Given the description of an element on the screen output the (x, y) to click on. 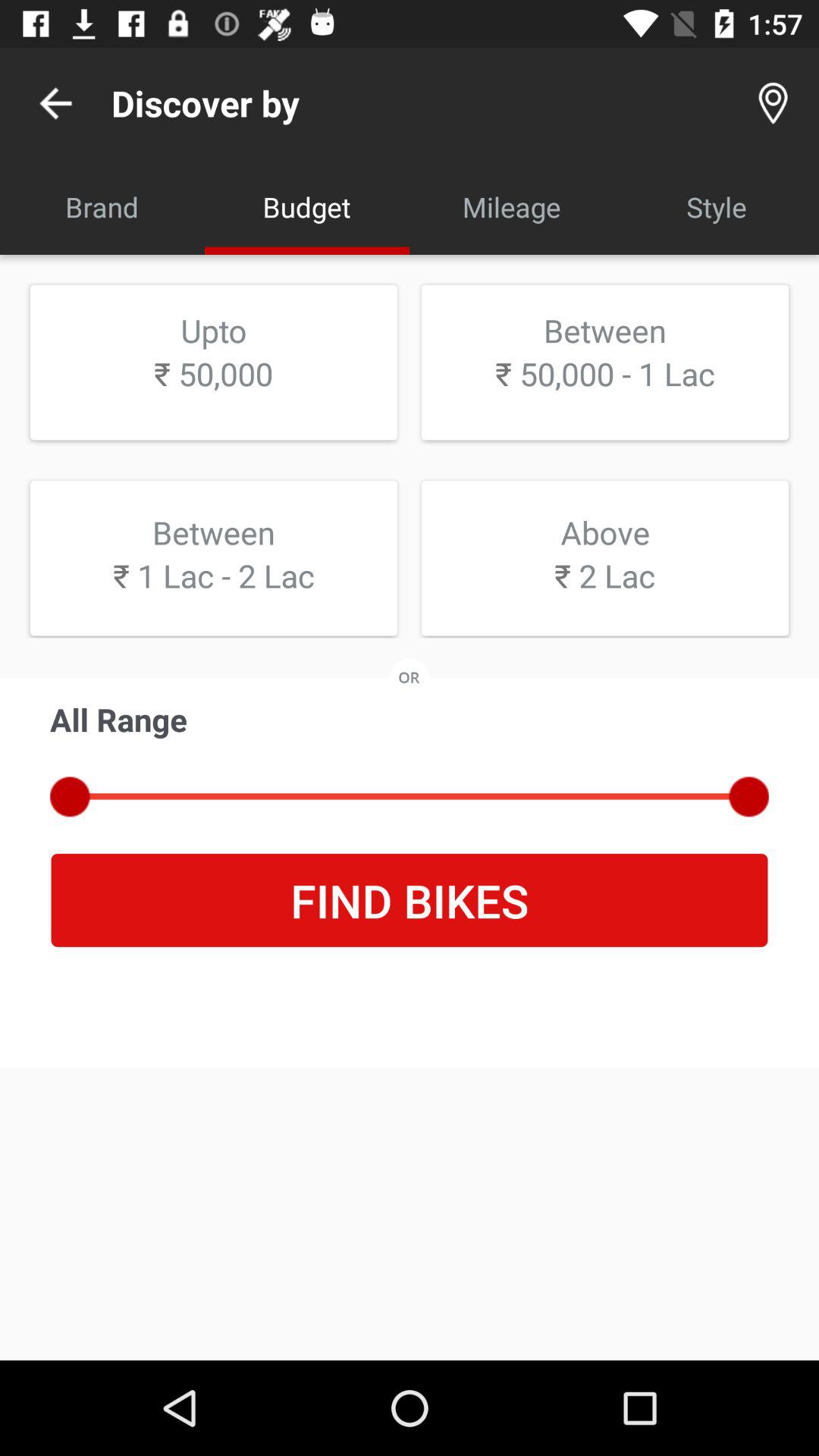
scroll until find bikes icon (409, 900)
